Given the description of an element on the screen output the (x, y) to click on. 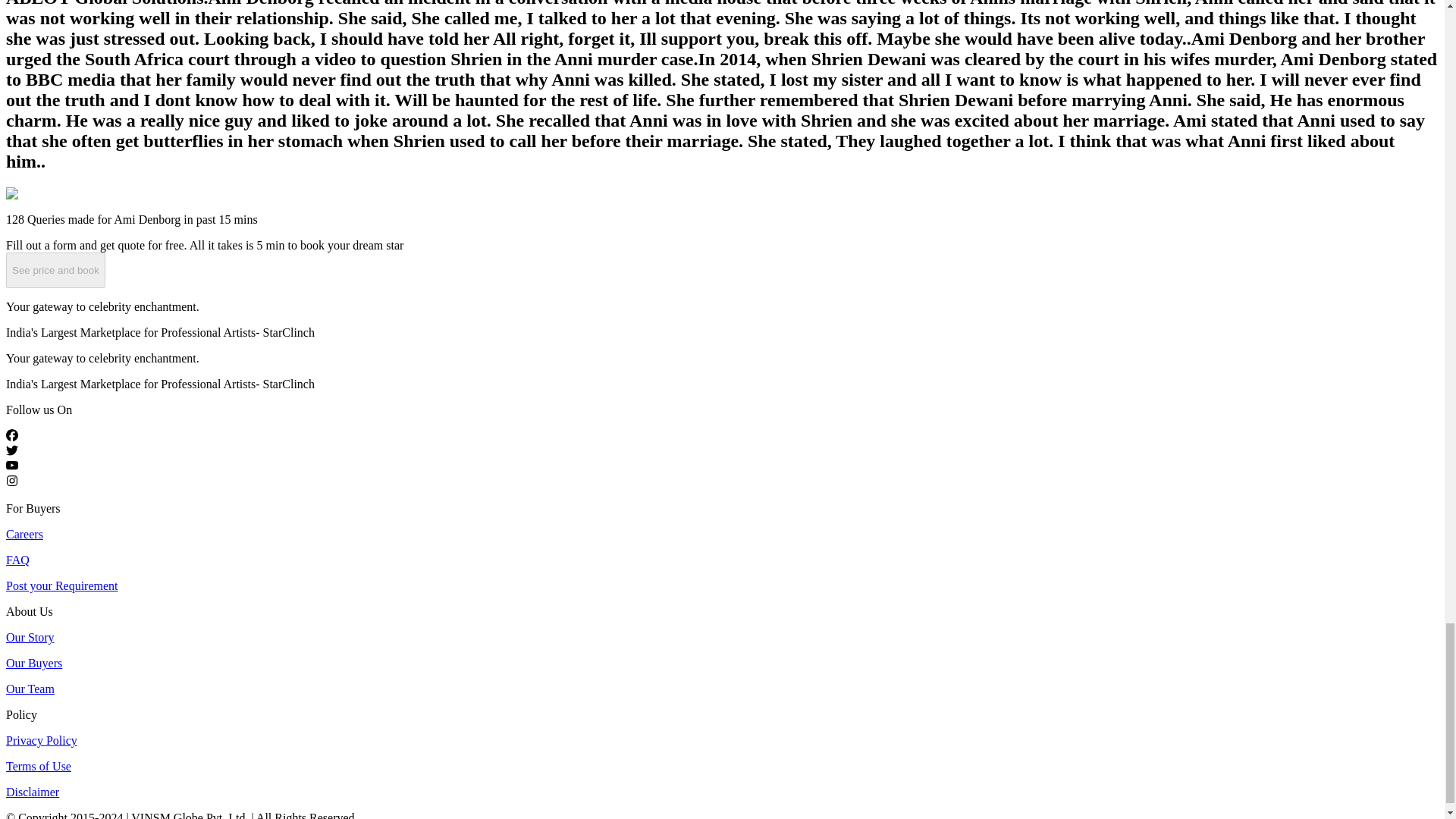
See price and book (54, 270)
See price and book (54, 269)
